Given the description of an element on the screen output the (x, y) to click on. 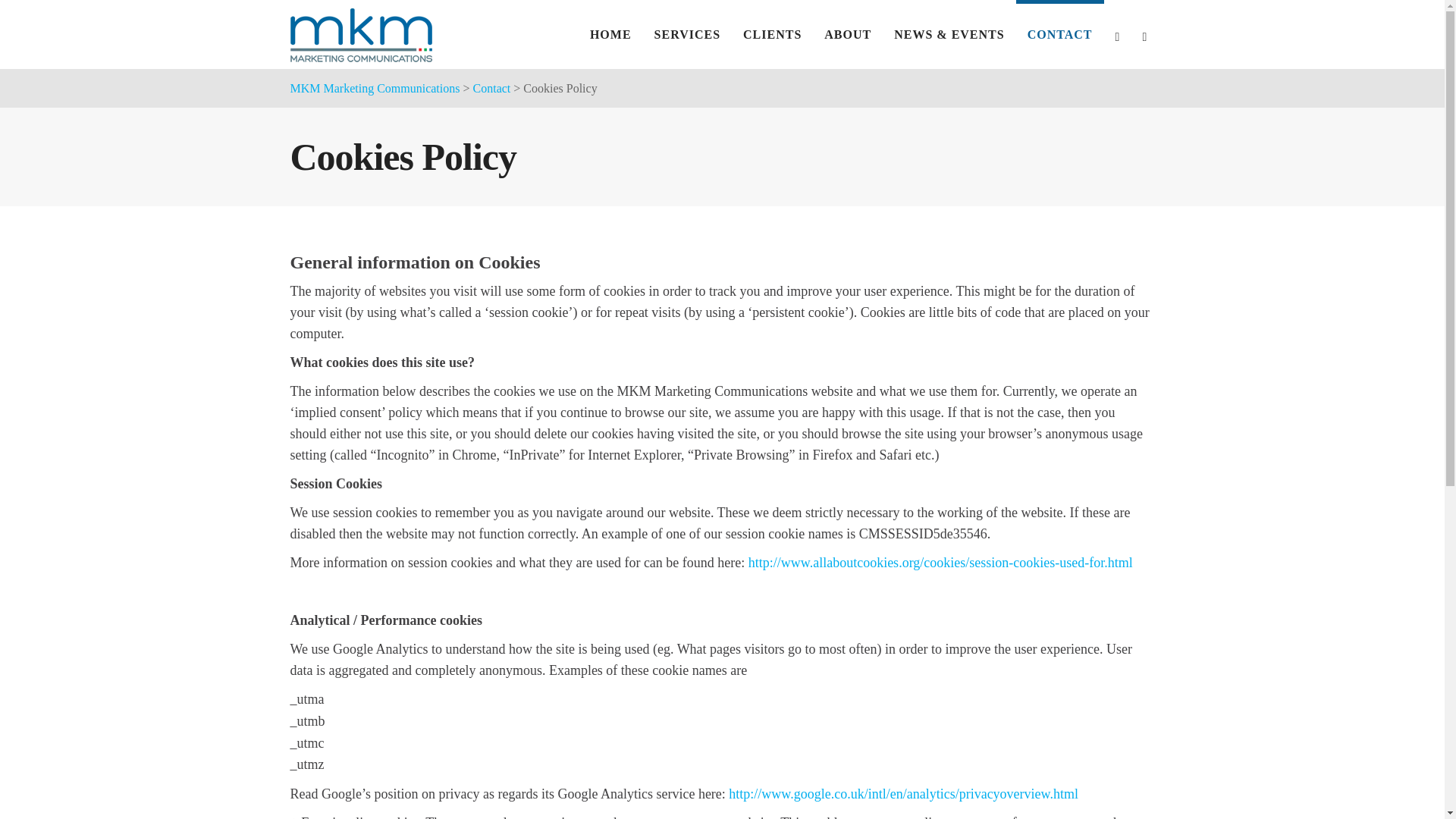
Go to Contact. (492, 88)
CLIENTS (772, 34)
CONTACT (1059, 34)
ABOUT (847, 34)
Go to MKM Marketing Communications. (374, 88)
Contact (492, 88)
HOME (610, 34)
SERVICES (687, 34)
MKM Marketing Communications (374, 88)
